Given the description of an element on the screen output the (x, y) to click on. 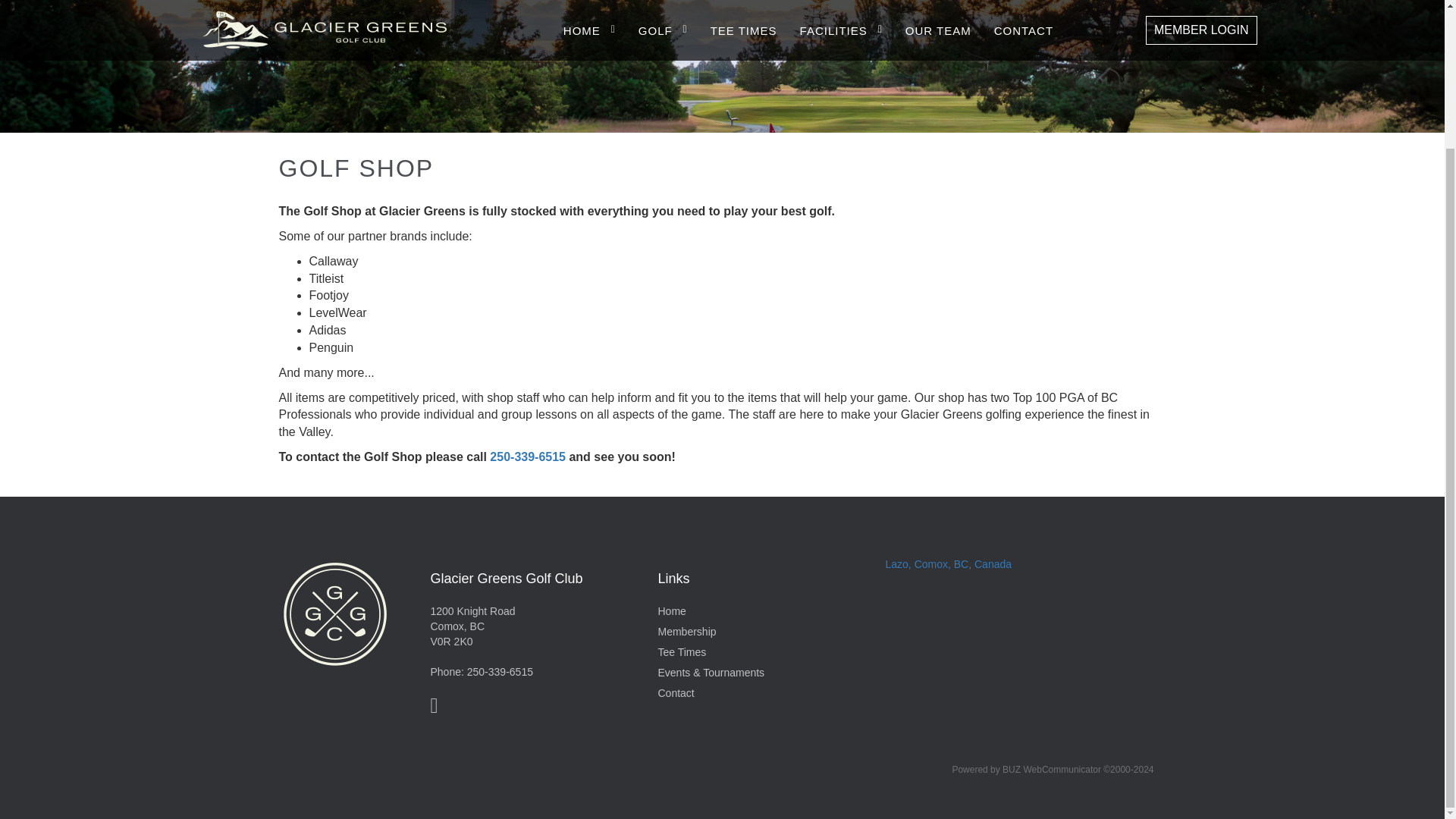
Home (671, 611)
250-339-6515 (527, 456)
Lazo, Comox, BC, Canada (948, 563)
250-339-6515 (499, 671)
Contact (676, 693)
Facebook (437, 708)
Tee Times (682, 652)
Membership (687, 631)
